Given the description of an element on the screen output the (x, y) to click on. 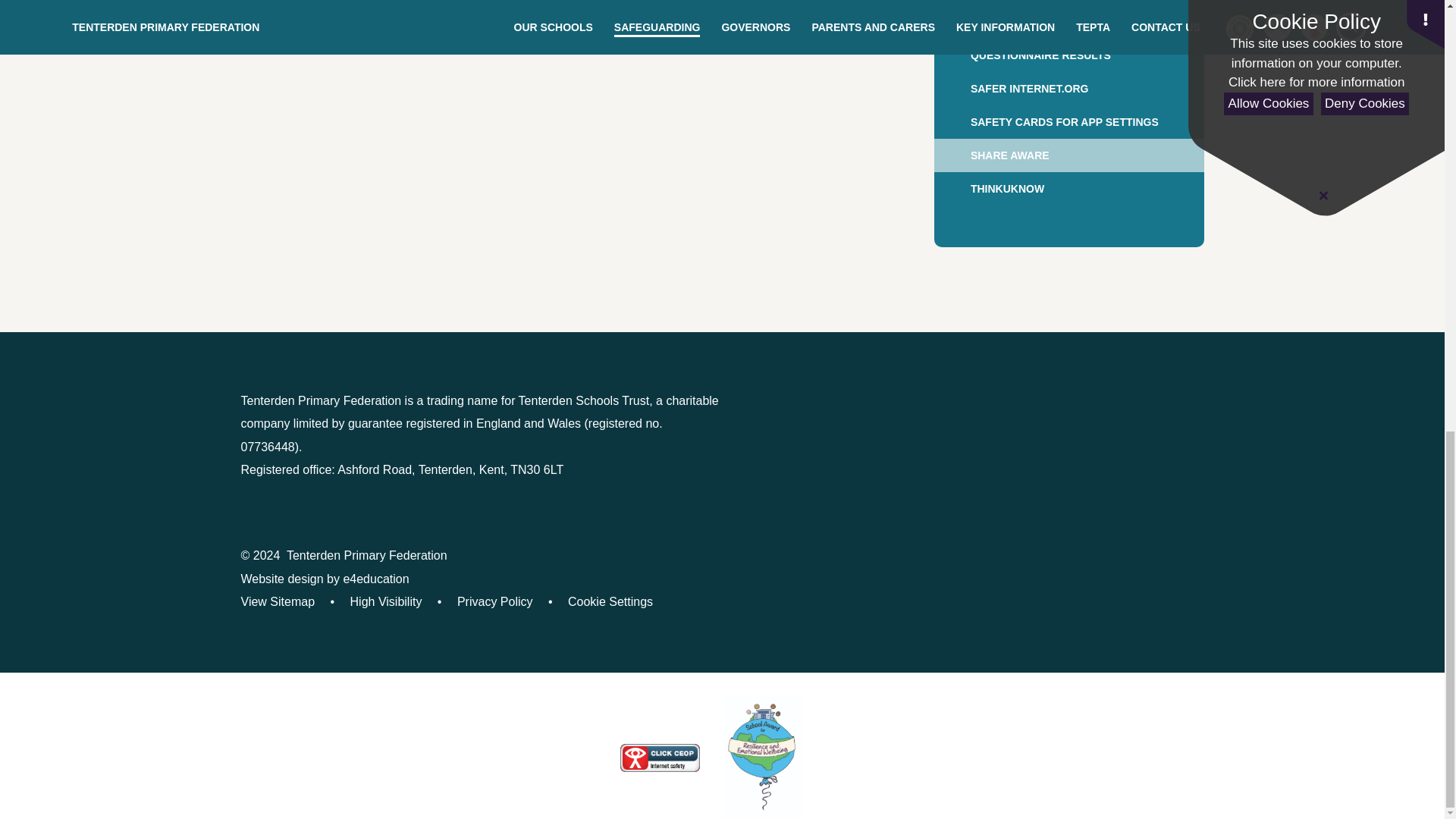
Cookie Settings (609, 601)
